Given the description of an element on the screen output the (x, y) to click on. 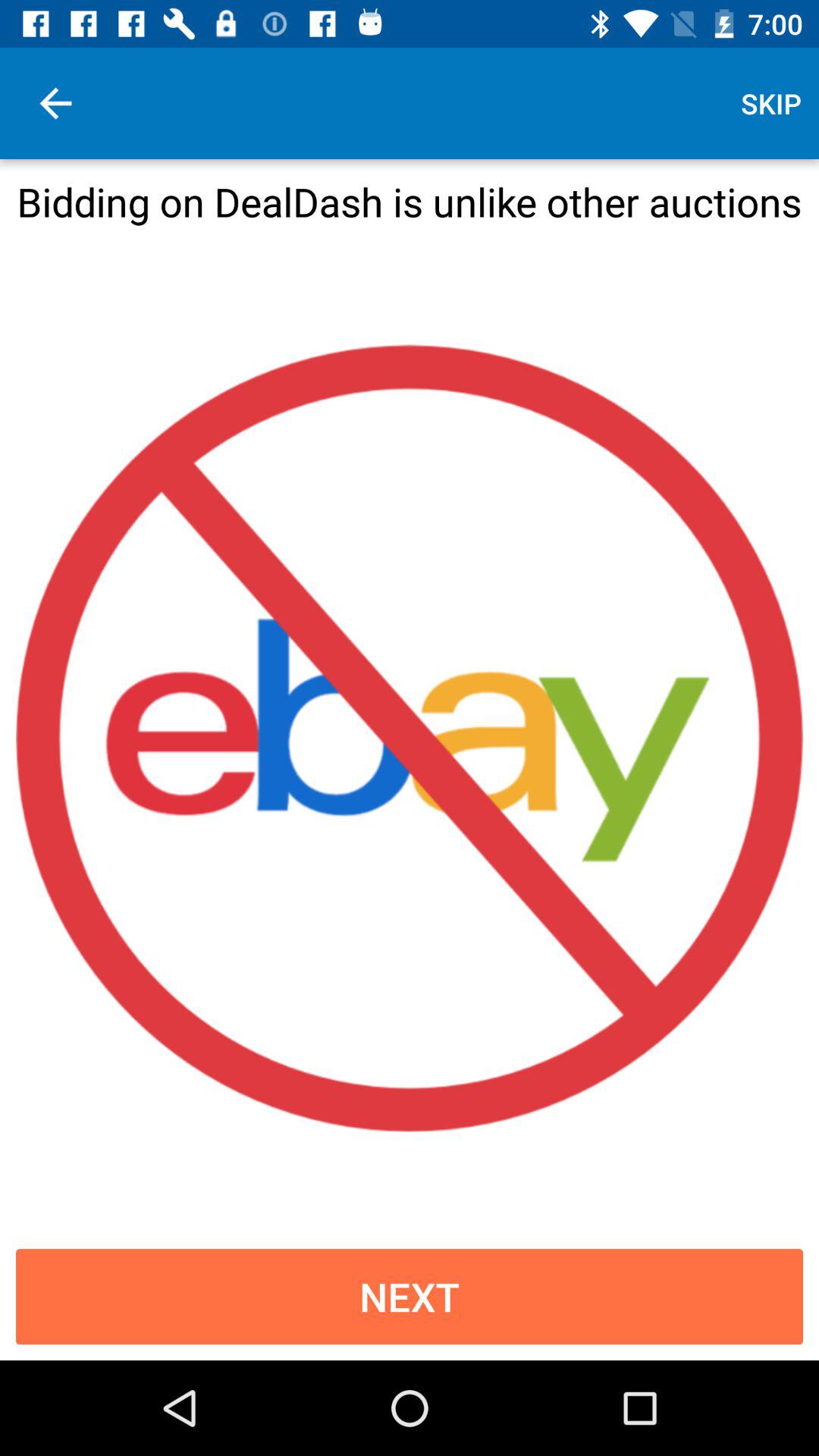
turn on item to the left of the skip item (55, 103)
